Given the description of an element on the screen output the (x, y) to click on. 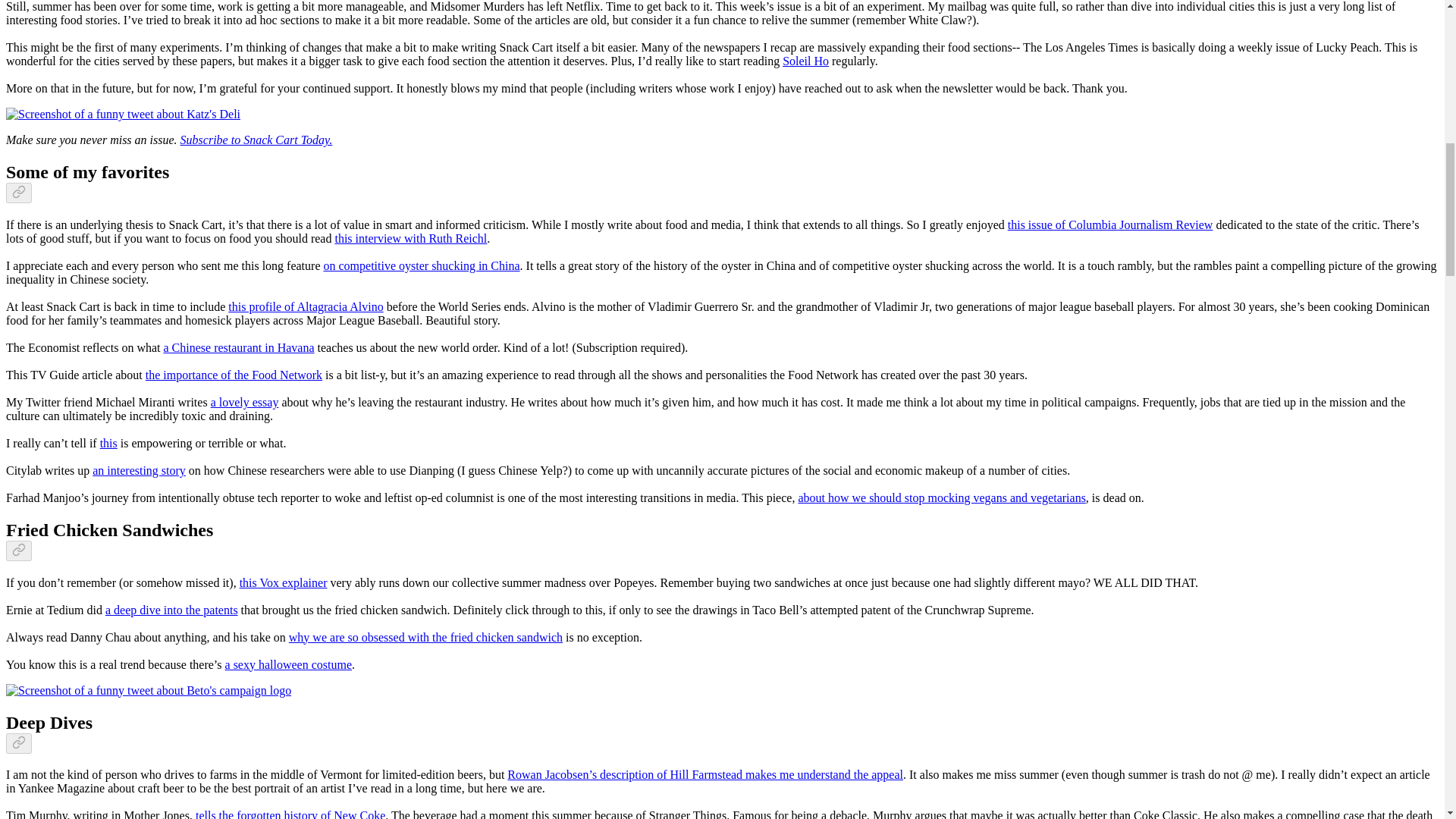
an interesting story (139, 470)
this issue of Columbia Journalism Review (1109, 224)
a Chinese restaurant in Havana (238, 347)
this (108, 442)
Screenshot of a funny tweet about Beto's campaign logo (148, 690)
Soleil Ho (805, 60)
this profile of Altagracia Alvino (305, 306)
this interview with Ruth Reichl (410, 237)
about how we should stop mocking vegans and vegetarians (940, 497)
the importance of the Food Network (233, 374)
